Given the description of an element on the screen output the (x, y) to click on. 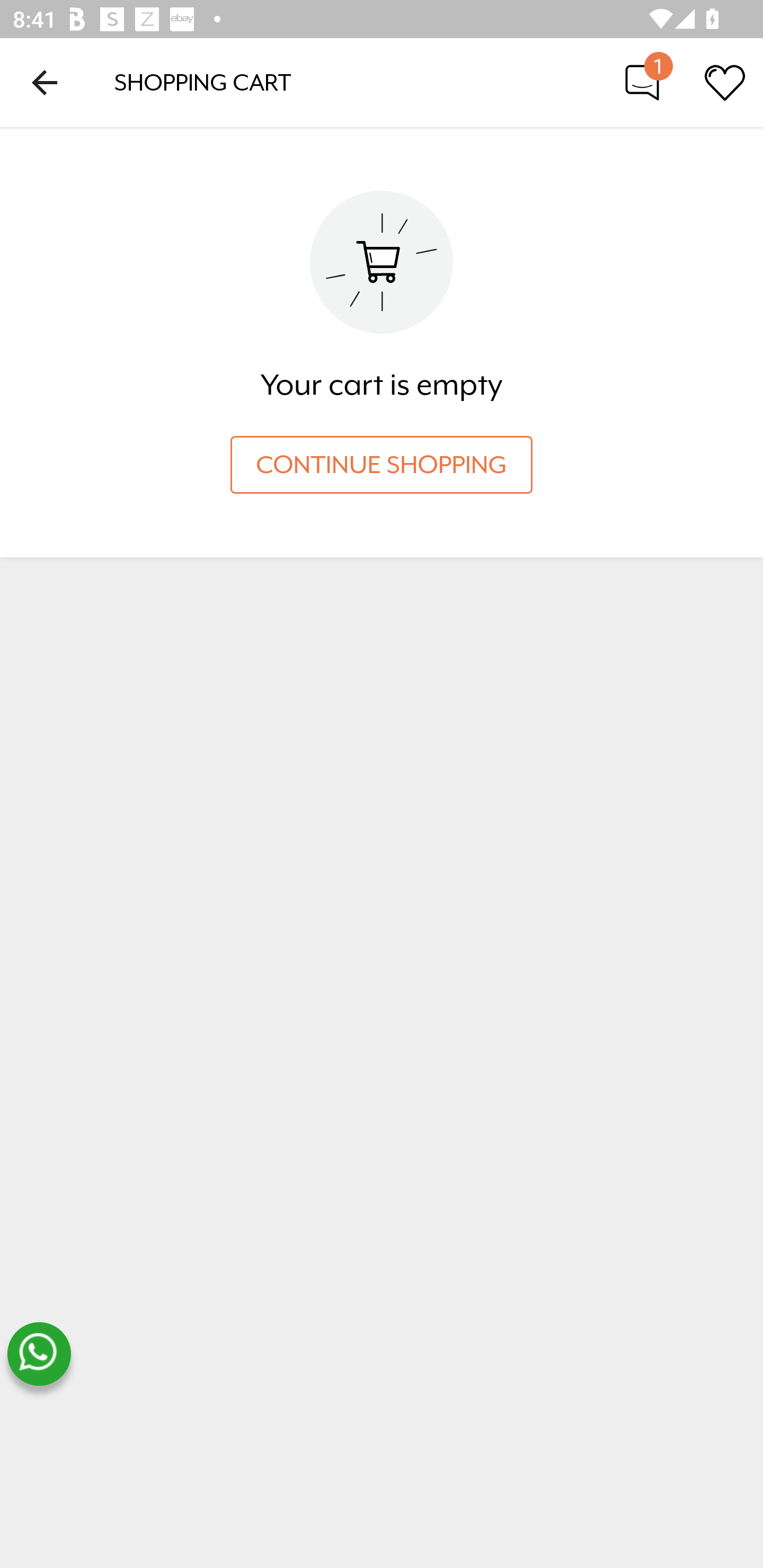
Navigate up (44, 82)
Chat (641, 81)
Wishlist (724, 81)
CONTINUE SHOPPING (381, 464)
whatsapp (38, 1353)
